Given the description of an element on the screen output the (x, y) to click on. 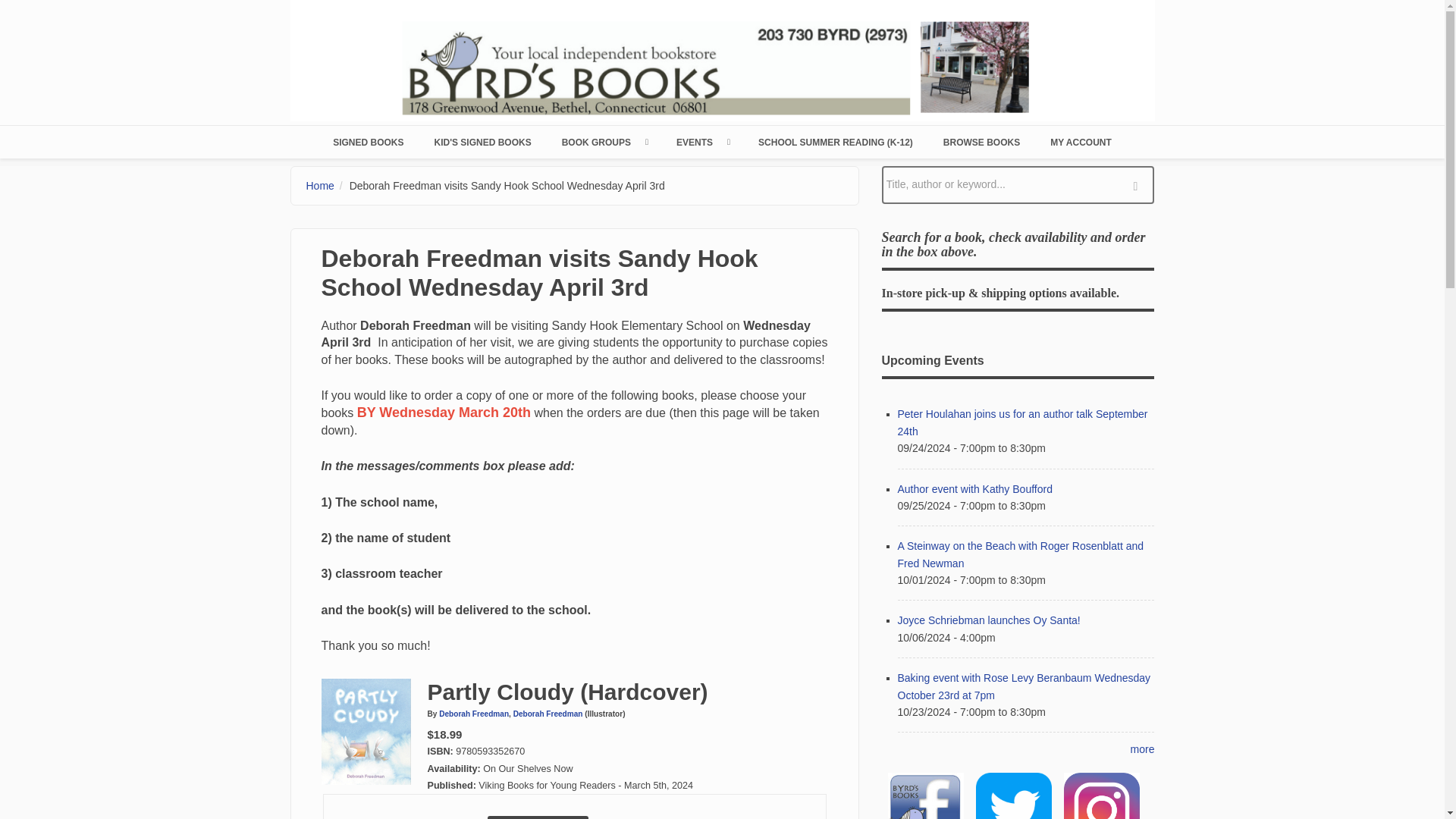
SIGNED Books (368, 142)
BROWSE BOOKS (981, 142)
EVENTS (701, 142)
KID'S SIGNED BOOKS (482, 142)
Kid's Signed Books (482, 142)
Deborah Freedman (473, 714)
MY ACCOUNT (1080, 142)
Add to Cart (537, 817)
BOOK GROUPS (604, 142)
